Given the description of an element on the screen output the (x, y) to click on. 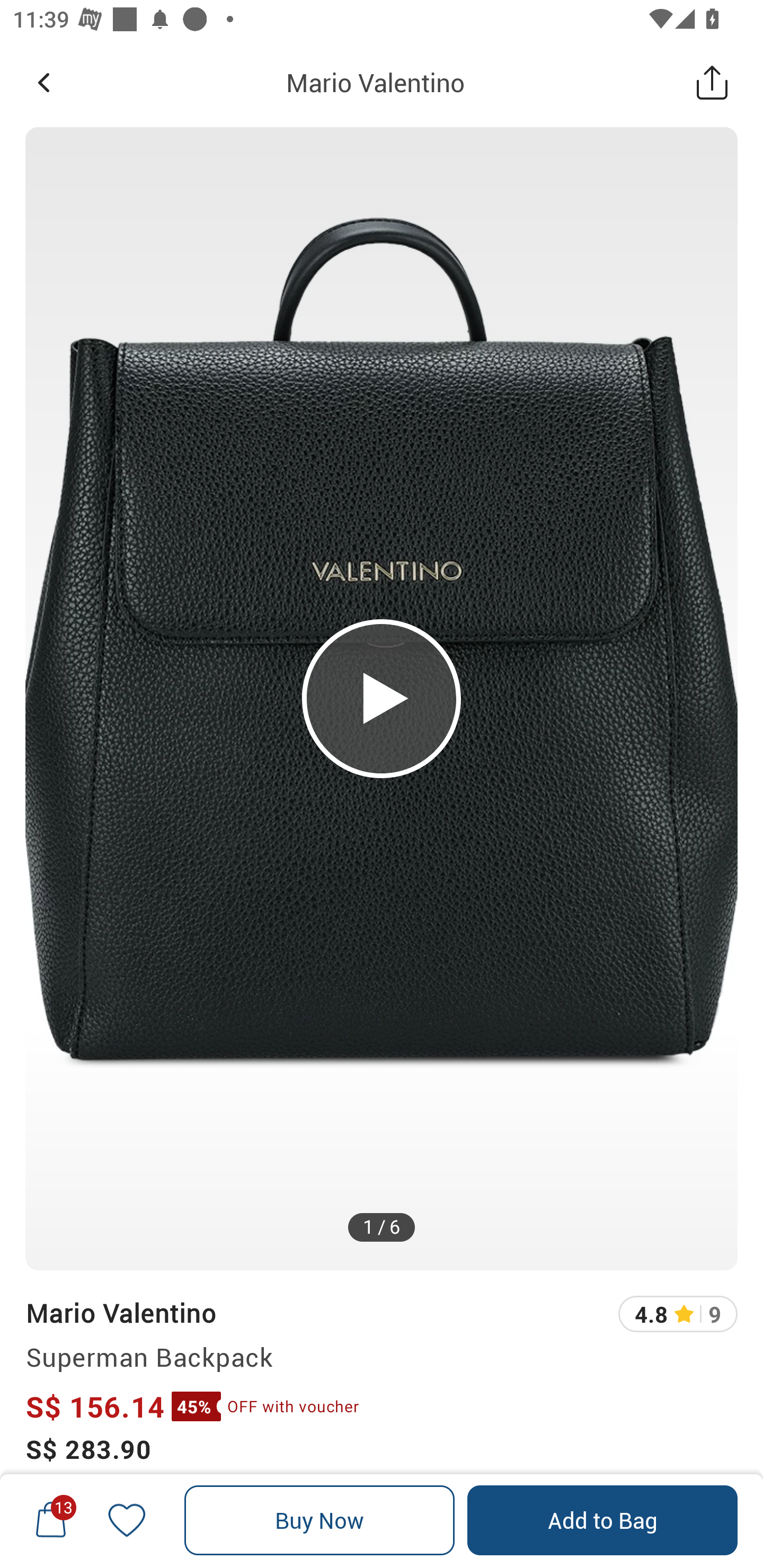
Mario Valentino (375, 82)
Share this Product (711, 82)
Mario Valentino (120, 1312)
4.8 9 (677, 1313)
Buy Now (319, 1519)
Add to Bag (601, 1519)
13 (50, 1520)
